Given the description of an element on the screen output the (x, y) to click on. 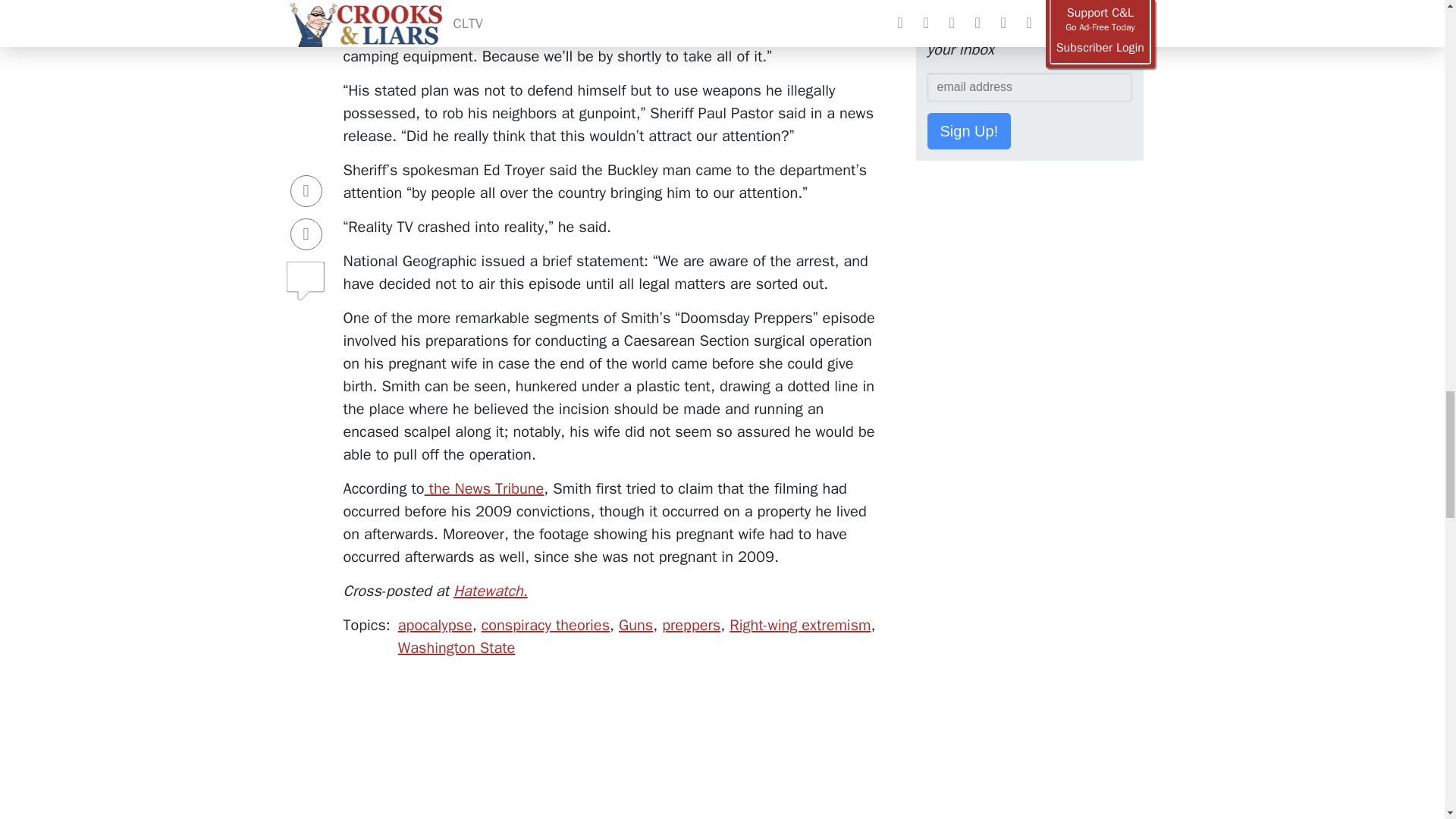
Guns (635, 624)
apocalypse (434, 624)
Right-wing extremism (799, 624)
conspiracy theories (545, 624)
preppers (691, 624)
the News Tribune (484, 488)
Hatewatch. (489, 590)
